Given the description of an element on the screen output the (x, y) to click on. 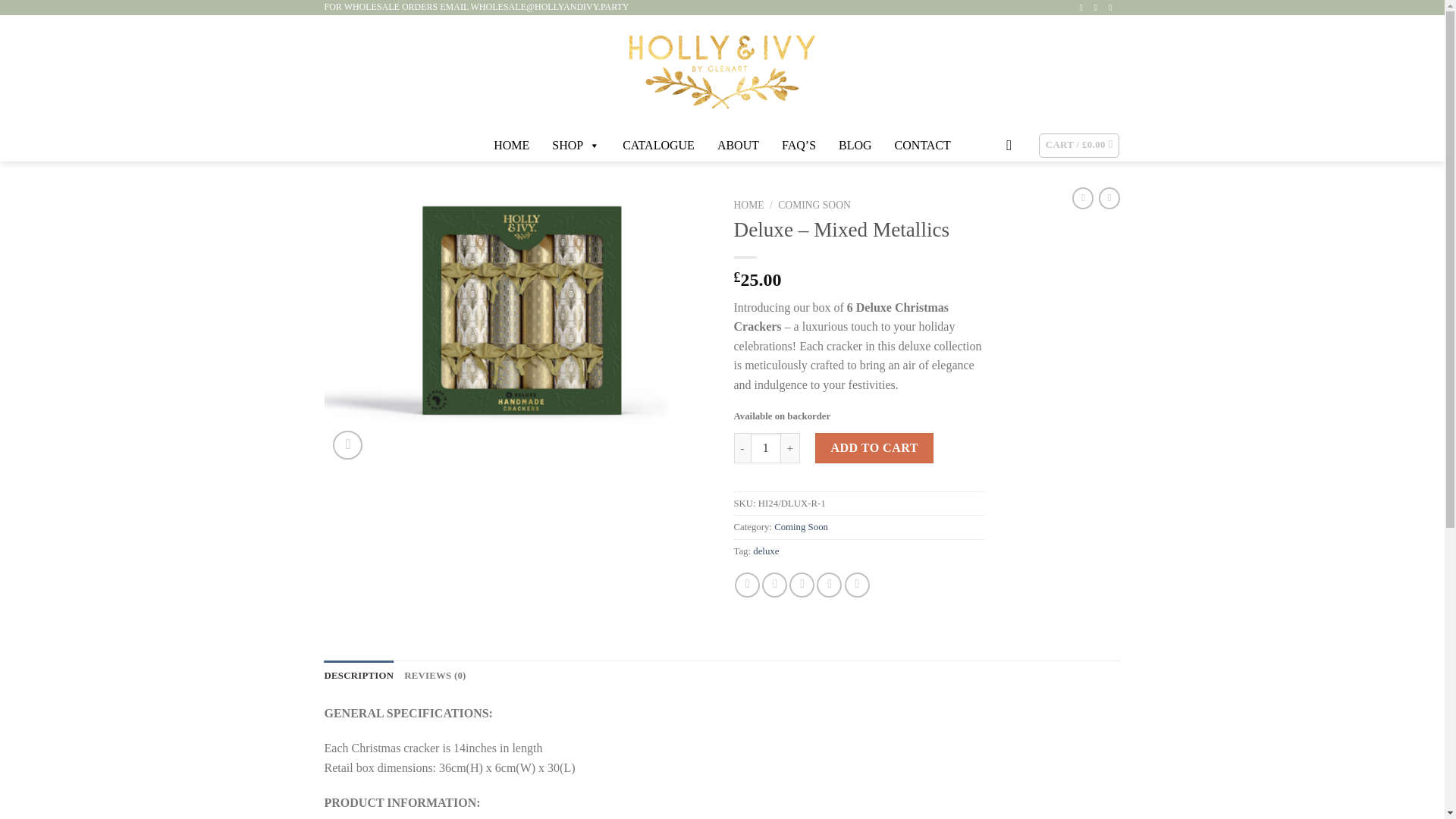
1 (765, 448)
CATALOGUE (657, 145)
HOME (748, 204)
Share on Twitter (774, 584)
Email to a Friend (801, 584)
Holly and Ivy - By Glenart (721, 71)
Zoom (347, 445)
ABOUT (738, 145)
BLOG (855, 145)
Cart (1079, 145)
Share on LinkedIn (856, 584)
Pin on Pinterest (828, 584)
COMING SOON (813, 204)
SHOP (575, 145)
CONTACT (922, 145)
